Given the description of an element on the screen output the (x, y) to click on. 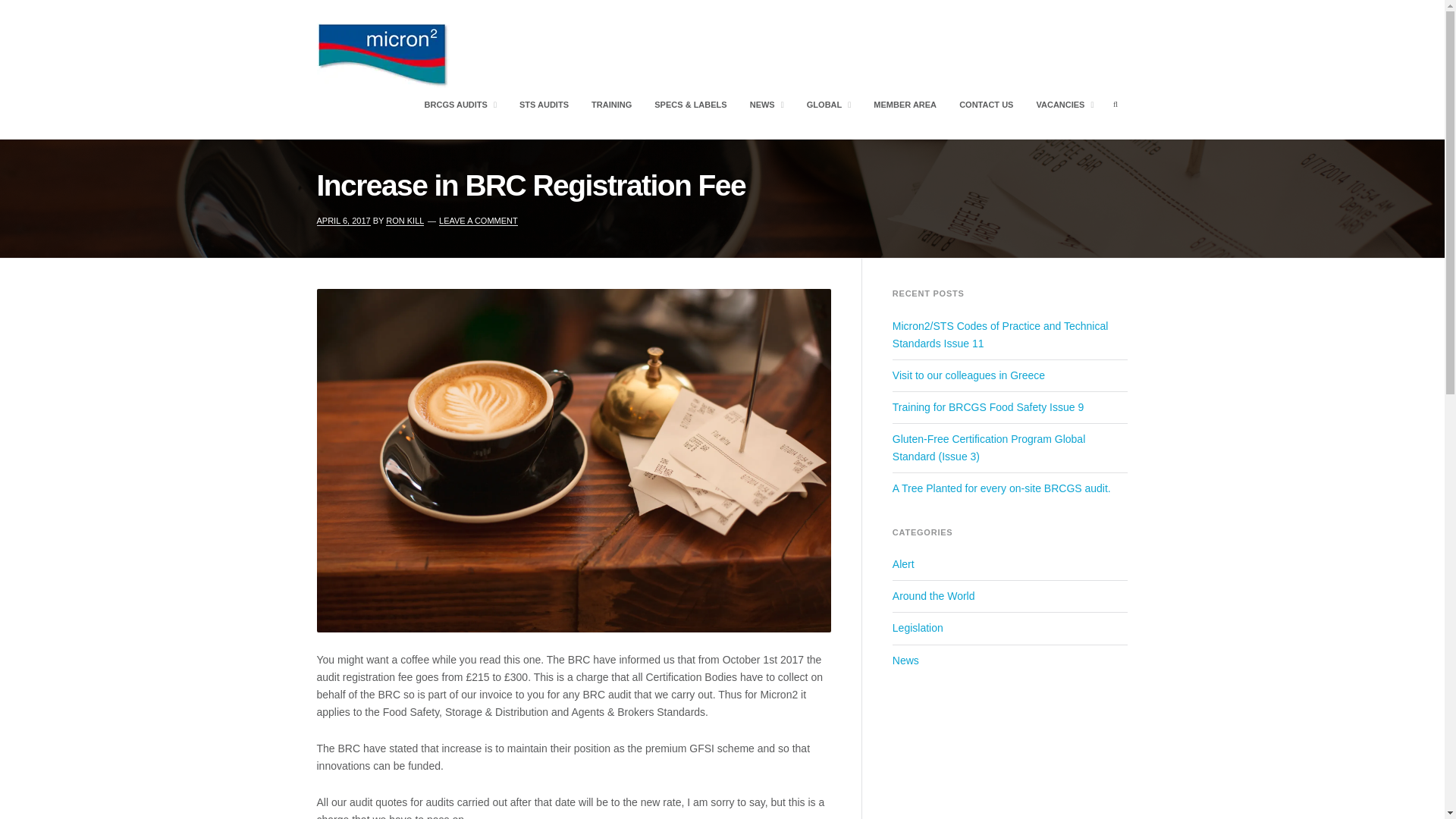
APRIL 6, 2017 (344, 221)
TRAINING (611, 105)
STS AUDITS (544, 105)
RON KILL (404, 221)
NEWS (767, 105)
LEAVE A COMMENT (478, 221)
BRCGS AUDITS (459, 105)
CONTACT US (986, 105)
Search box (1114, 104)
VACANCIES (1064, 105)
GLOBAL (828, 105)
MEMBER AREA (904, 105)
Micron2 (352, 104)
